Given the description of an element on the screen output the (x, y) to click on. 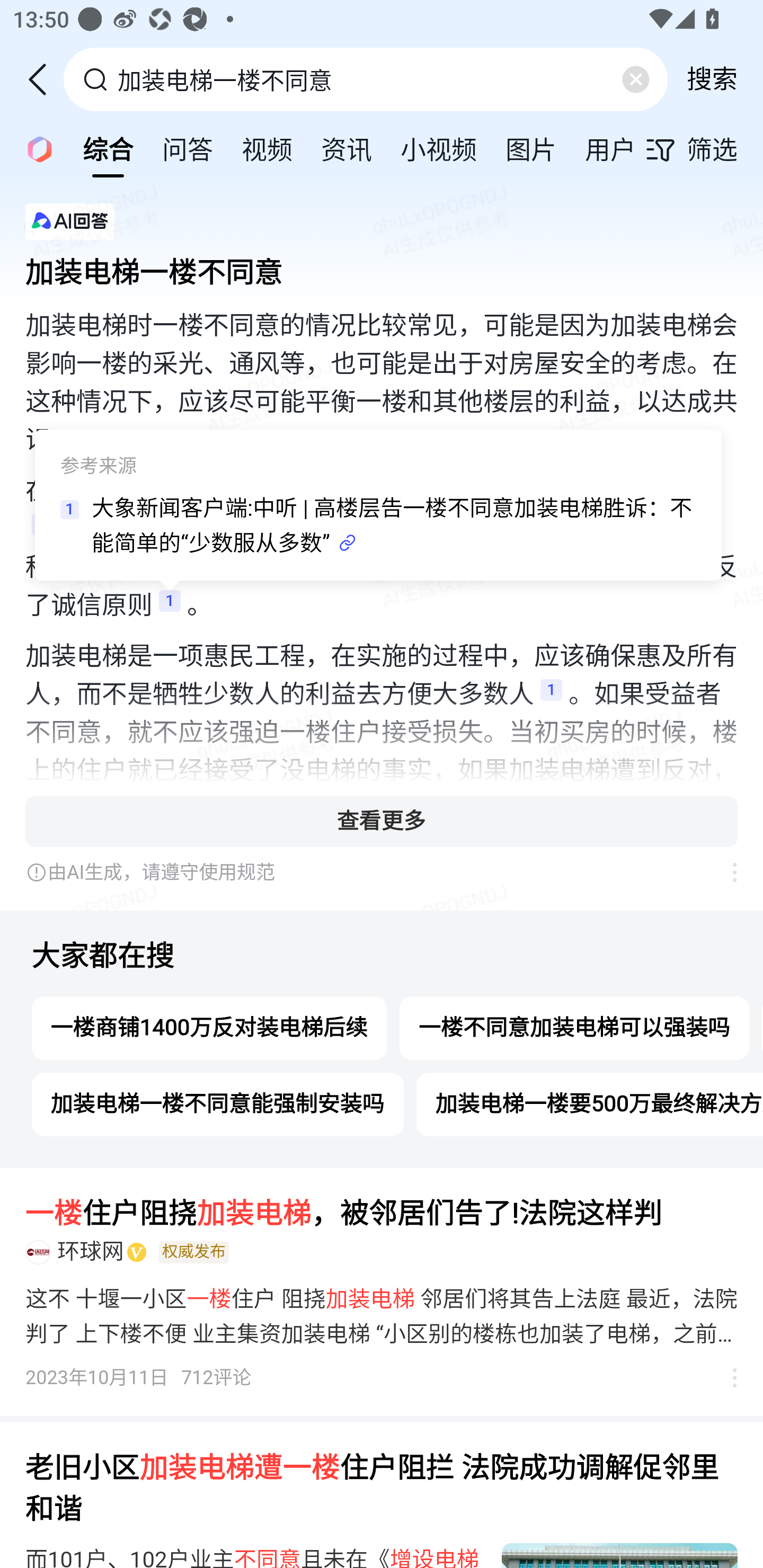
搜索框，加装电梯一楼不同意 (366, 79)
搜索 (711, 79)
返回 (44, 79)
清除 (635, 79)
问答 (187, 148)
视频 (266, 148)
资讯 (346, 148)
小视频 (438, 148)
图片 (530, 148)
用户 (610, 148)
筛选 (703, 149)
AI问答 (34, 148)
大象新闻客户端:中听 | 高楼层告一楼不同意加装电梯胜诉：不能简单的“少数服从多数” (392, 526)
1 (169, 605)
1 (551, 694)
查看更多 (381, 821)
由AI生成，请遵守使用规范 (368, 872)
举报反馈 (724, 872)
2023年10月11日 712评论 (138, 1377)
举报反馈 (724, 1377)
